Given the description of an element on the screen output the (x, y) to click on. 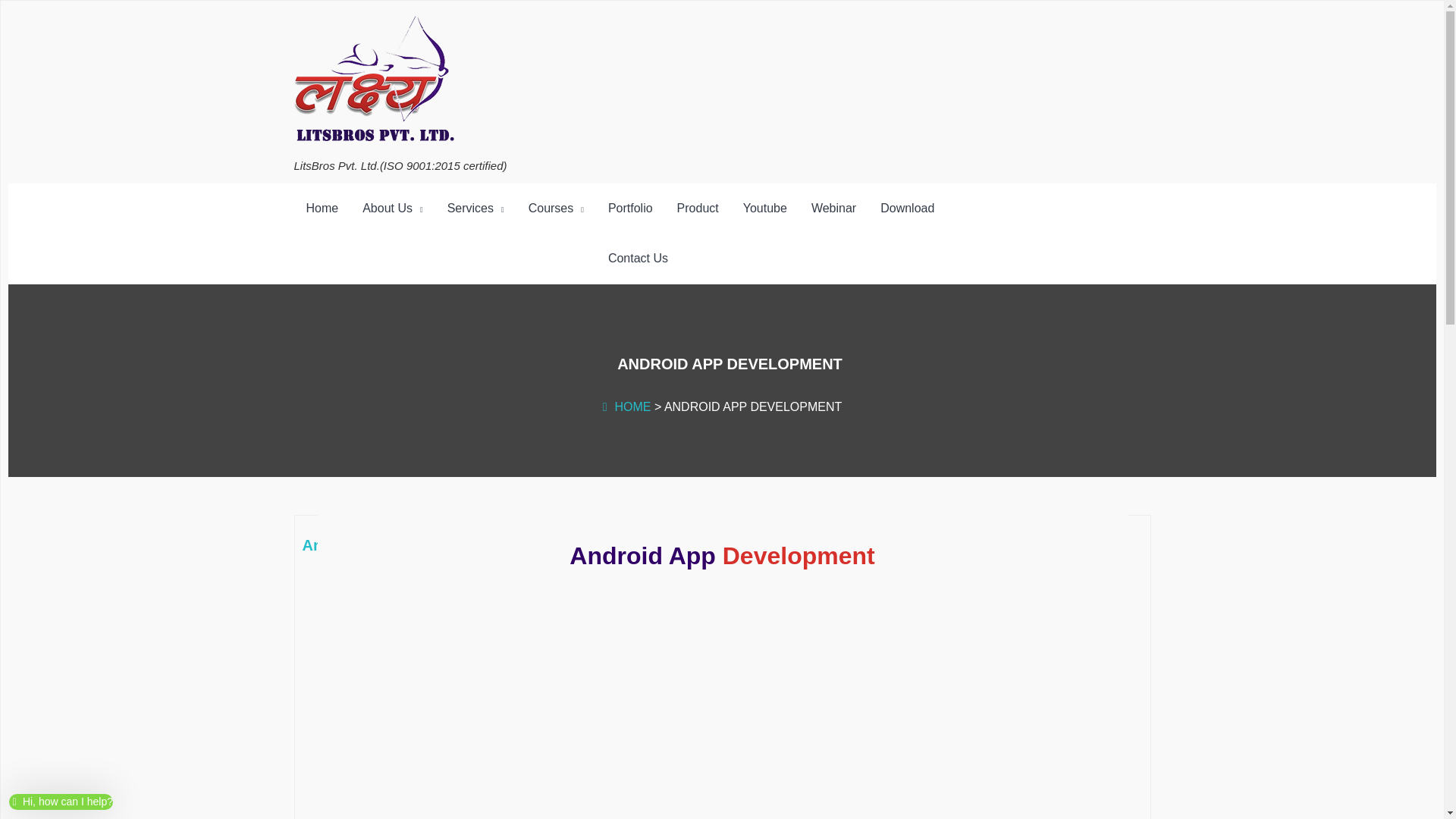
Courses (555, 209)
Download (906, 208)
HOME (626, 406)
Services (475, 209)
Webinar (833, 208)
Youtube (764, 208)
Portfolio (630, 208)
Home (322, 208)
Contact Us (637, 258)
Product (697, 208)
